Given the description of an element on the screen output the (x, y) to click on. 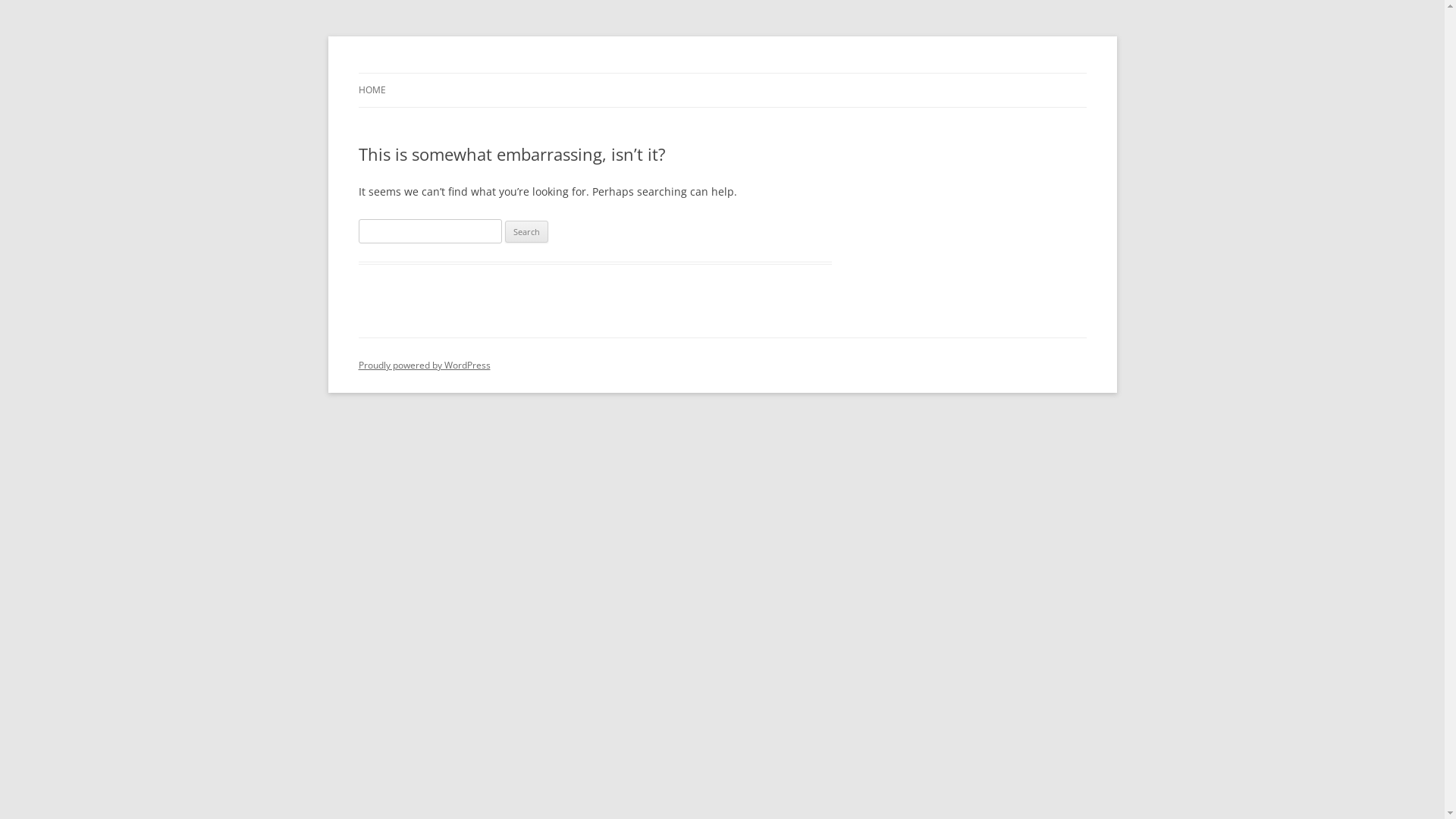
Search Element type: text (526, 231)
Proudly powered by WordPress Element type: text (423, 364)
Skip to content Element type: text (721, 72)
HOME Element type: text (371, 89)
Emergency Locksmith Element type: text (465, 72)
